Given the description of an element on the screen output the (x, y) to click on. 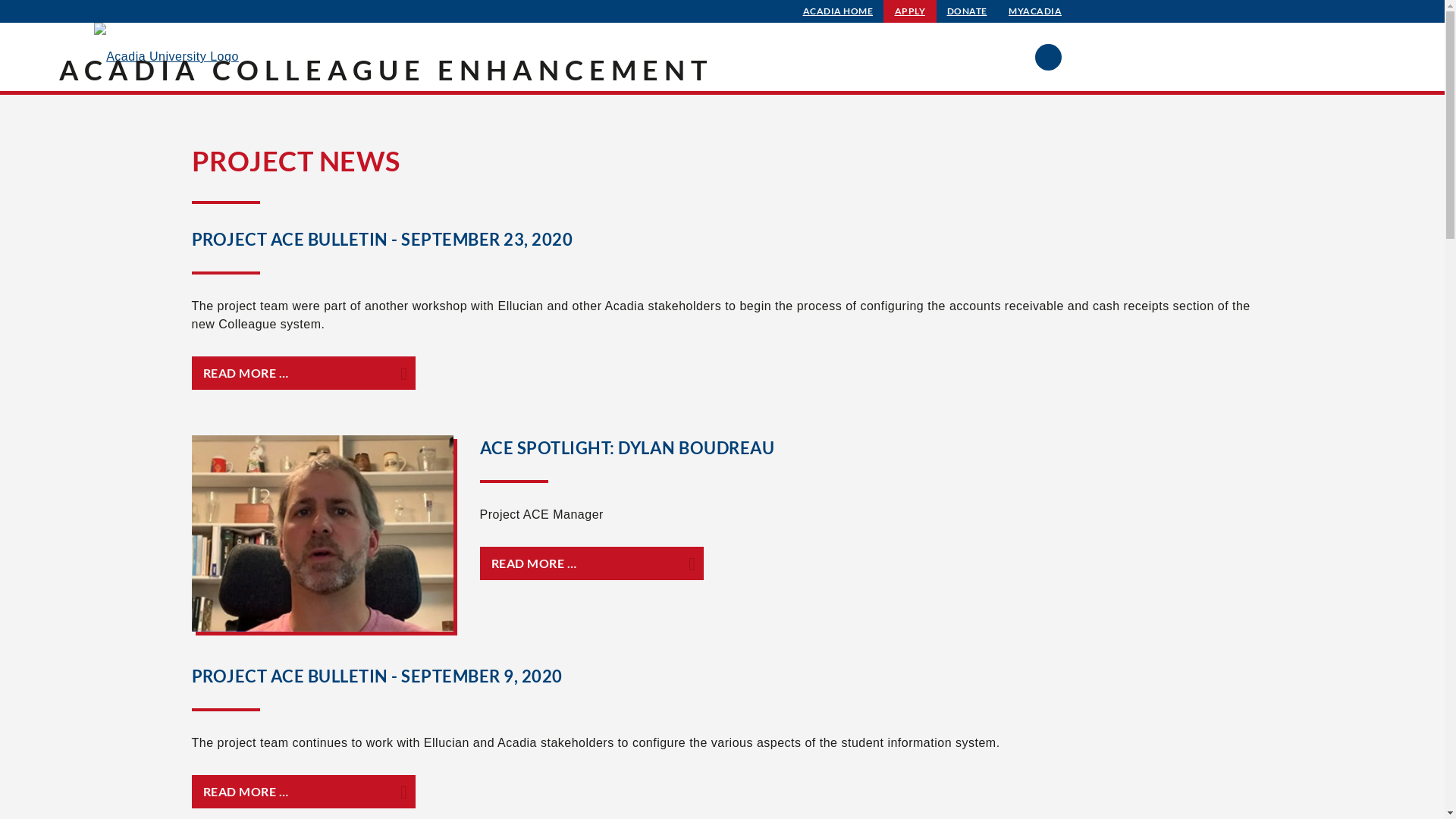
PROJECT ACE BULLETIN - SEPTEMBER 9, 2020 Element type: text (376, 675)
APPLY Element type: text (909, 11)
ACADIA HOME Element type: text (837, 11)
PROJECT ACE BULLETIN - SEPTEMBER 23, 2020 Element type: text (381, 239)
DONATE Element type: text (966, 11)
ACE SPOTLIGHT: DYLAN BOUDREAU Element type: text (626, 447)
MYACADIA Element type: text (1035, 11)
Read the article: ACE Spotlight: Dylan Boudreau Element type: hover (321, 630)
ACADIA COLLEAGUE ENHANCEMENT Element type: text (385, 69)
